Given the description of an element on the screen output the (x, y) to click on. 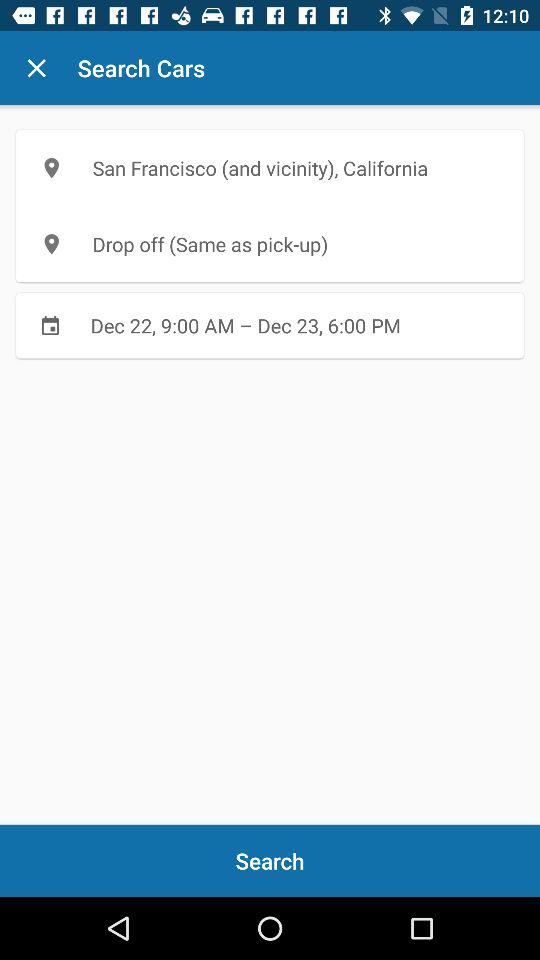
turn off the icon above the dec 22 9 icon (269, 244)
